Given the description of an element on the screen output the (x, y) to click on. 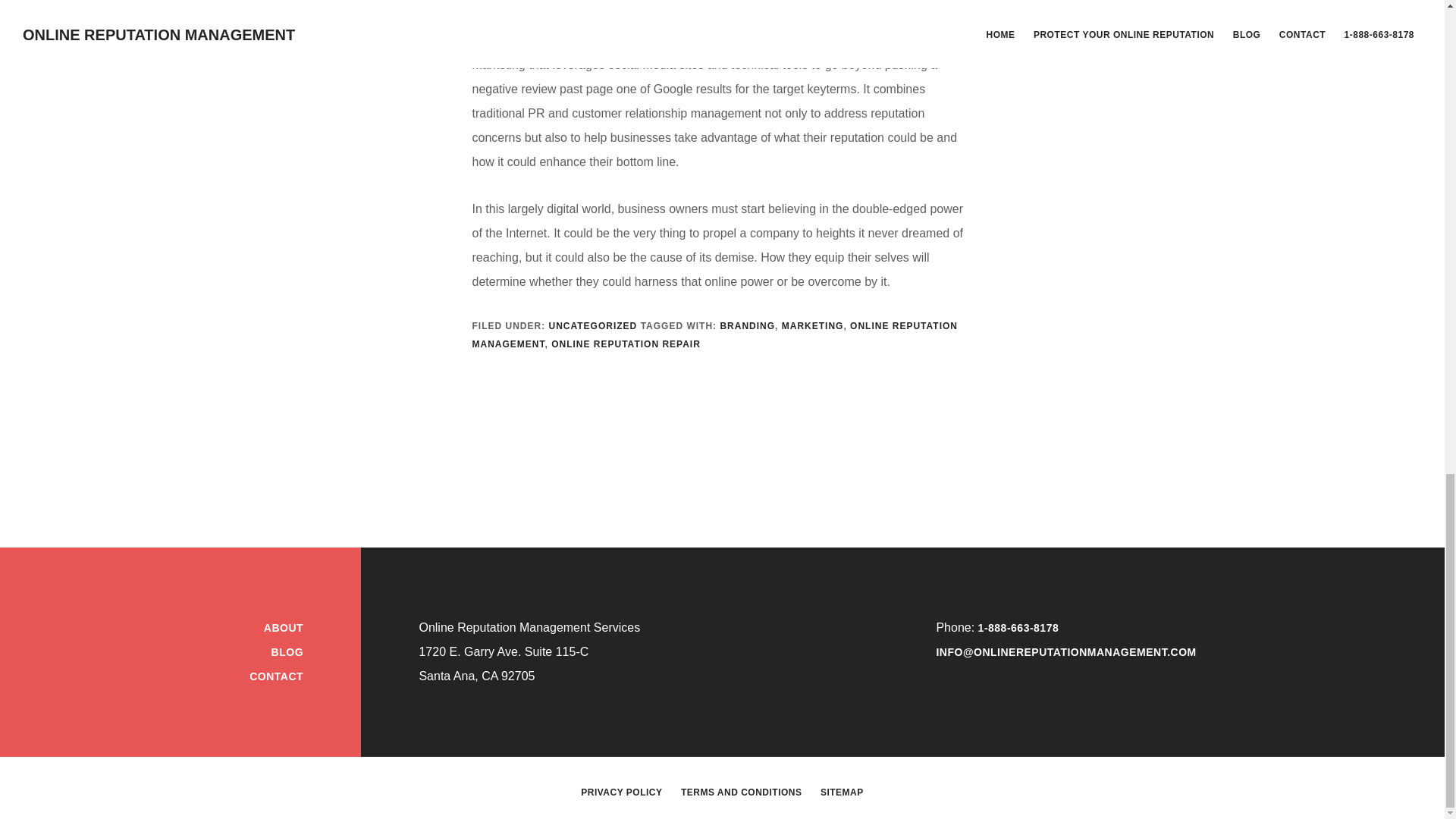
1-888-663-8178 (1018, 627)
BLOG (286, 652)
SITEMAP (842, 791)
ONLINE REPUTATION REPAIR (625, 344)
TERMS AND CONDITIONS (741, 791)
MARKETING (812, 326)
UNCATEGORIZED (592, 326)
CONTACT (275, 676)
PRIVACY POLICY (621, 791)
BRANDING (746, 326)
